Given the description of an element on the screen output the (x, y) to click on. 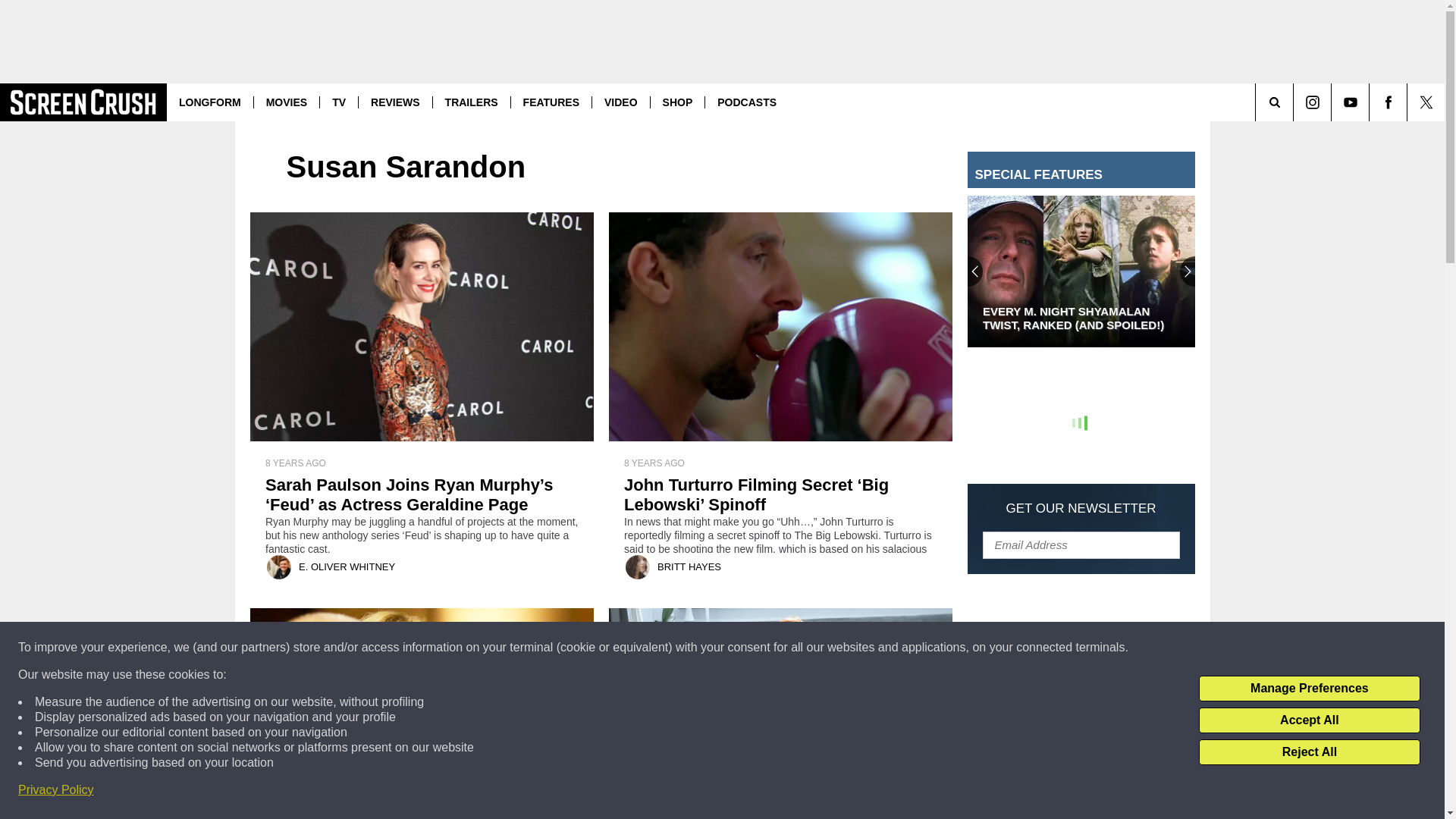
Visit us on Youtube (1350, 102)
Email Address (1080, 543)
Reject All (1309, 751)
Privacy Policy (55, 789)
TRAILERS (471, 102)
BRITT HAYES (688, 566)
REVIEWS (395, 102)
MOVIES (285, 102)
PODCASTS (746, 102)
SHOP (676, 102)
Manage Preferences (1309, 688)
VIDEO (620, 102)
SEARCH (1295, 102)
E. Oliver Whitney (278, 567)
SEARCH (1295, 102)
